Given the description of an element on the screen output the (x, y) to click on. 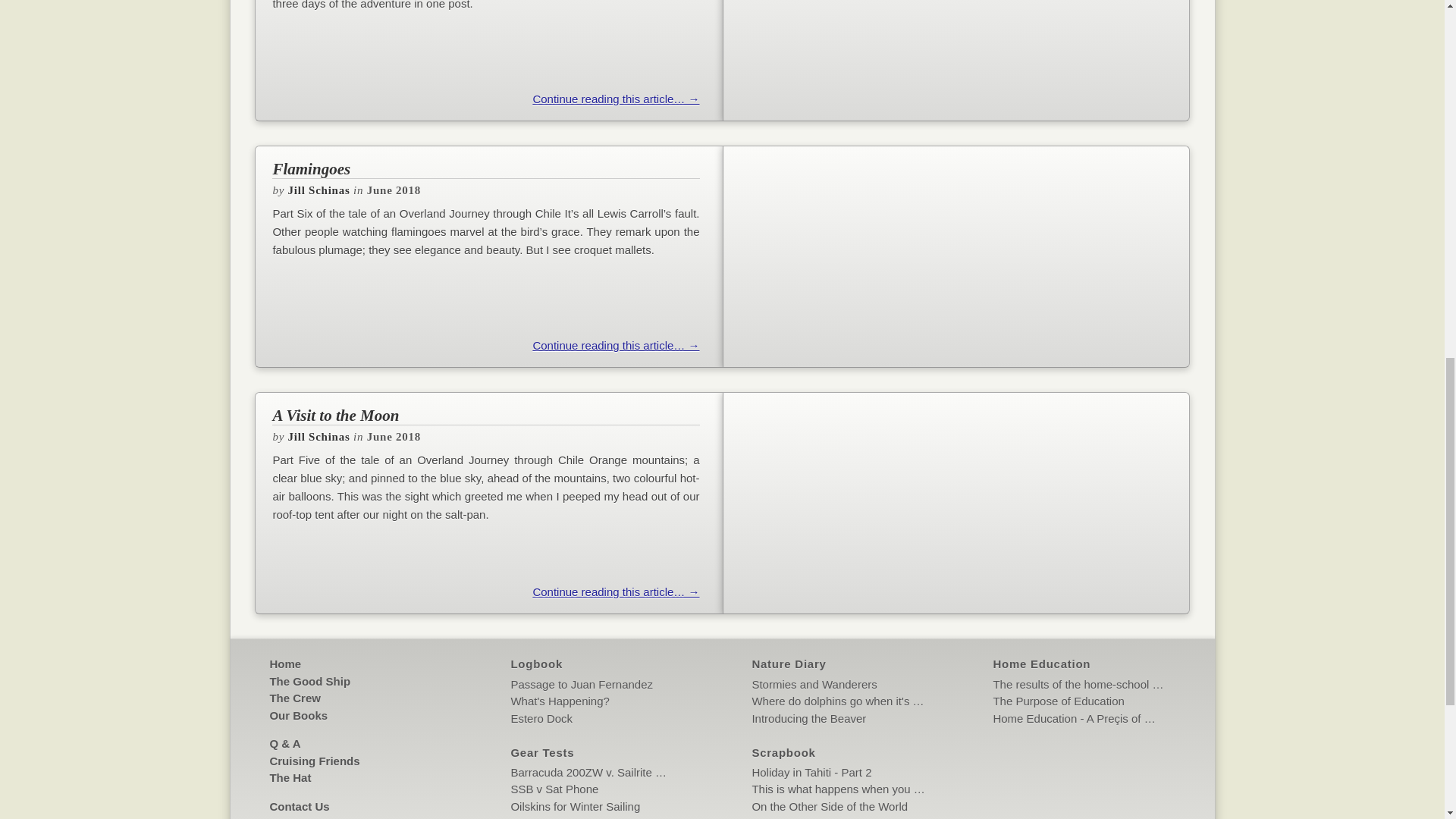
Flamingoes (485, 168)
A Visit to the Moon (485, 415)
Posts by Jill Schinas (319, 436)
Jill Schinas (319, 190)
Posts by Jill Schinas (319, 190)
